Given the description of an element on the screen output the (x, y) to click on. 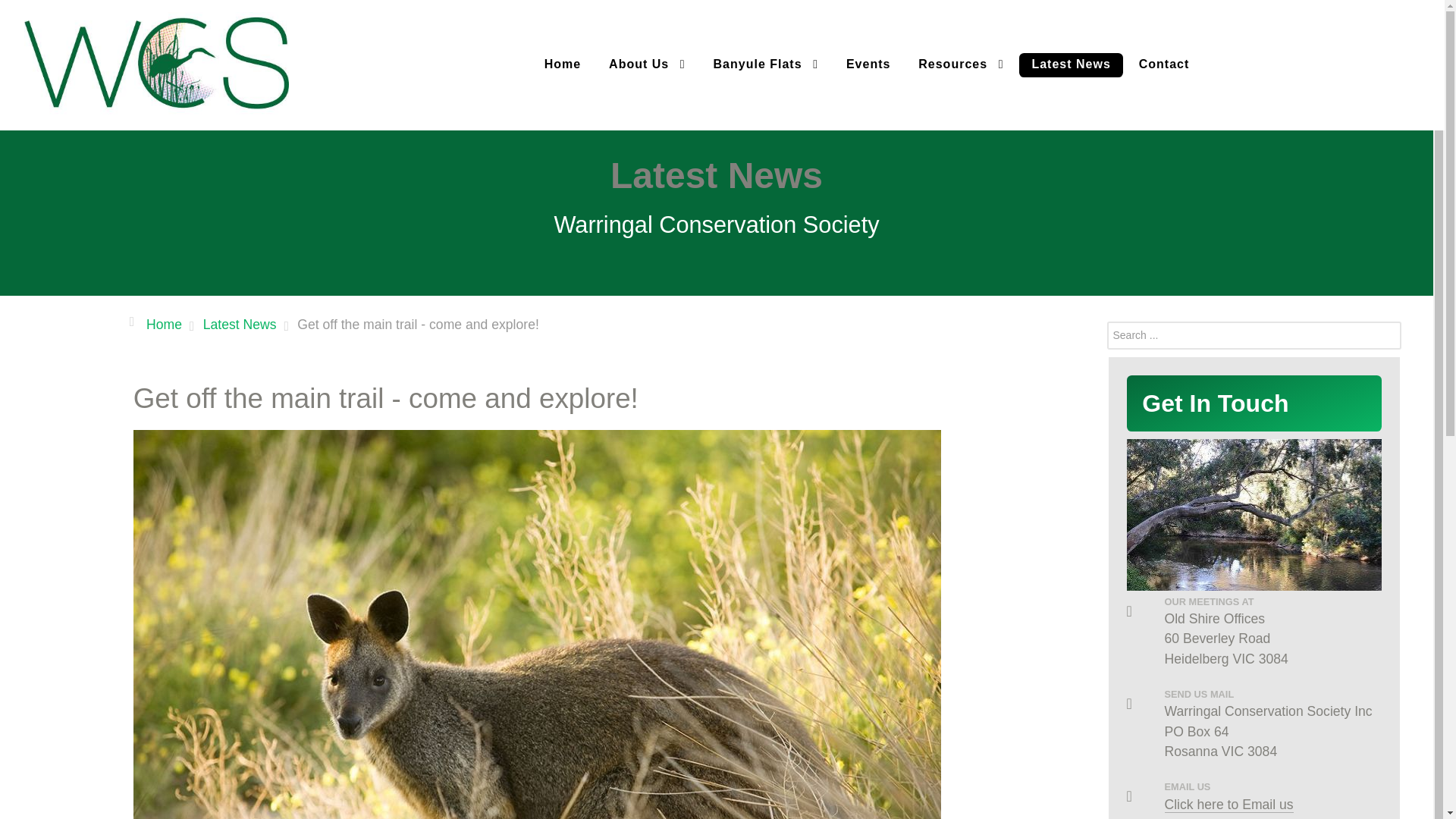
Events (868, 64)
Latest News (1070, 64)
Click here to Email us (1229, 804)
Supra (156, 62)
Home (562, 64)
About Us (646, 64)
Home (164, 324)
Resources (959, 64)
Latest News (239, 324)
Banyule Flats (765, 64)
Contact (1164, 64)
